Given the description of an element on the screen output the (x, y) to click on. 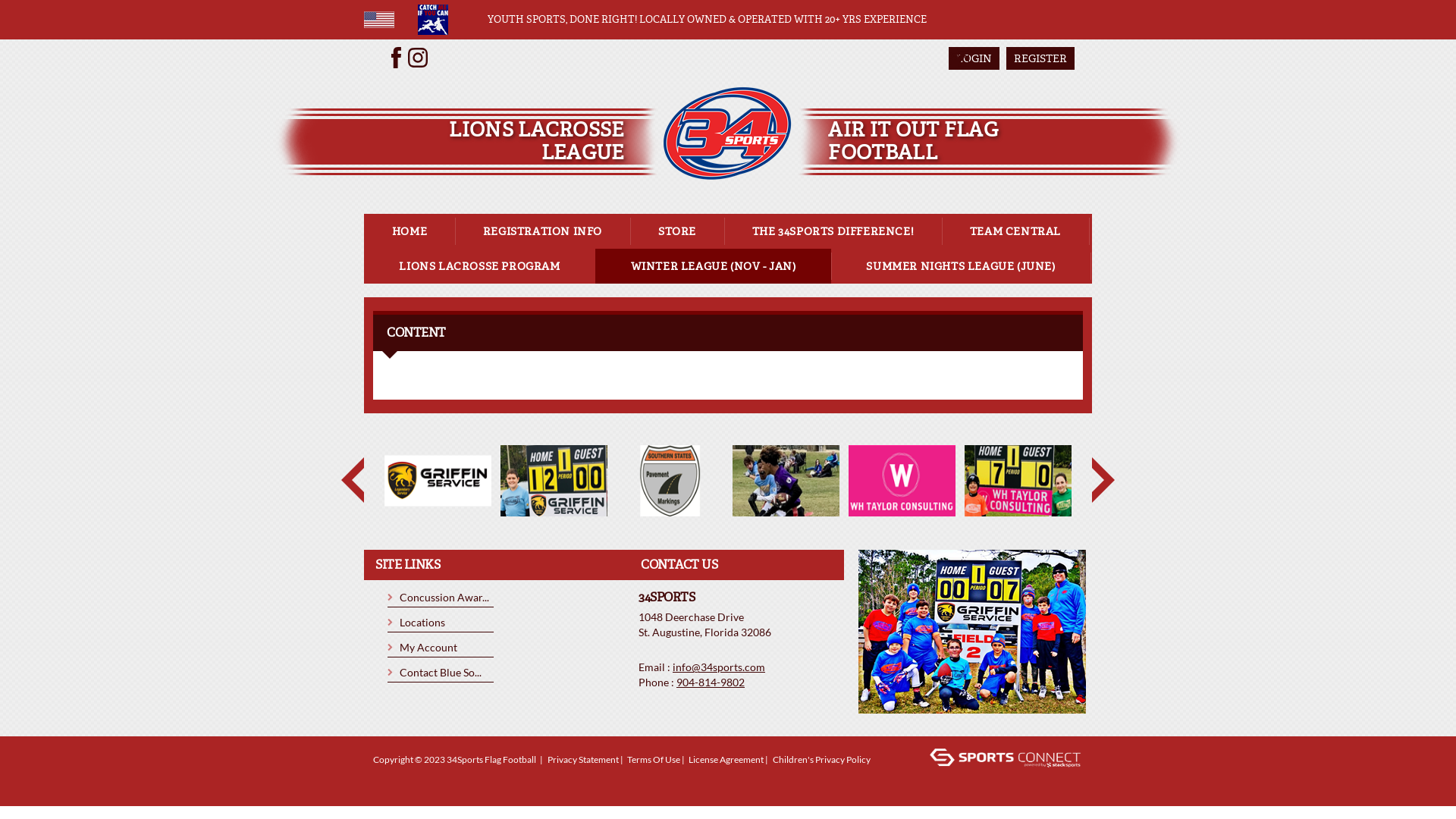
THE 34SPORTS DIFFERENCE! Element type: text (832, 230)
Concussion Awar... Element type: text (444, 597)
REGISTER Element type: text (1040, 58)
904-814-9802 Element type: text (710, 681)
Privacy Statement Element type: text (582, 759)
Terms Of Use Element type: text (653, 759)
LOGIN Element type: text (973, 58)
34Sports Flag Football Element type: hover (727, 131)
SUMMER NIGHTS LEAGUE (JUNE) Element type: text (960, 265)
STORE Element type: text (677, 230)
LIONS LACROSSE PROGRAM Element type: text (479, 265)
WINTER LEAGUE (NOV - JAN) Element type: text (713, 265)
HOME Element type: text (409, 230)
info@34sports.com Element type: text (718, 666)
Children's Privacy Policy Element type: text (821, 759)
My Account Element type: text (428, 647)
> Element type: text (1103, 479)
Locations Element type: text (422, 622)
License Agreement Element type: text (725, 759)
Contact Blue So... Element type: text (440, 672)
< Element type: text (352, 479)
Login Element type: text (391, 782)
